Given the description of an element on the screen output the (x, y) to click on. 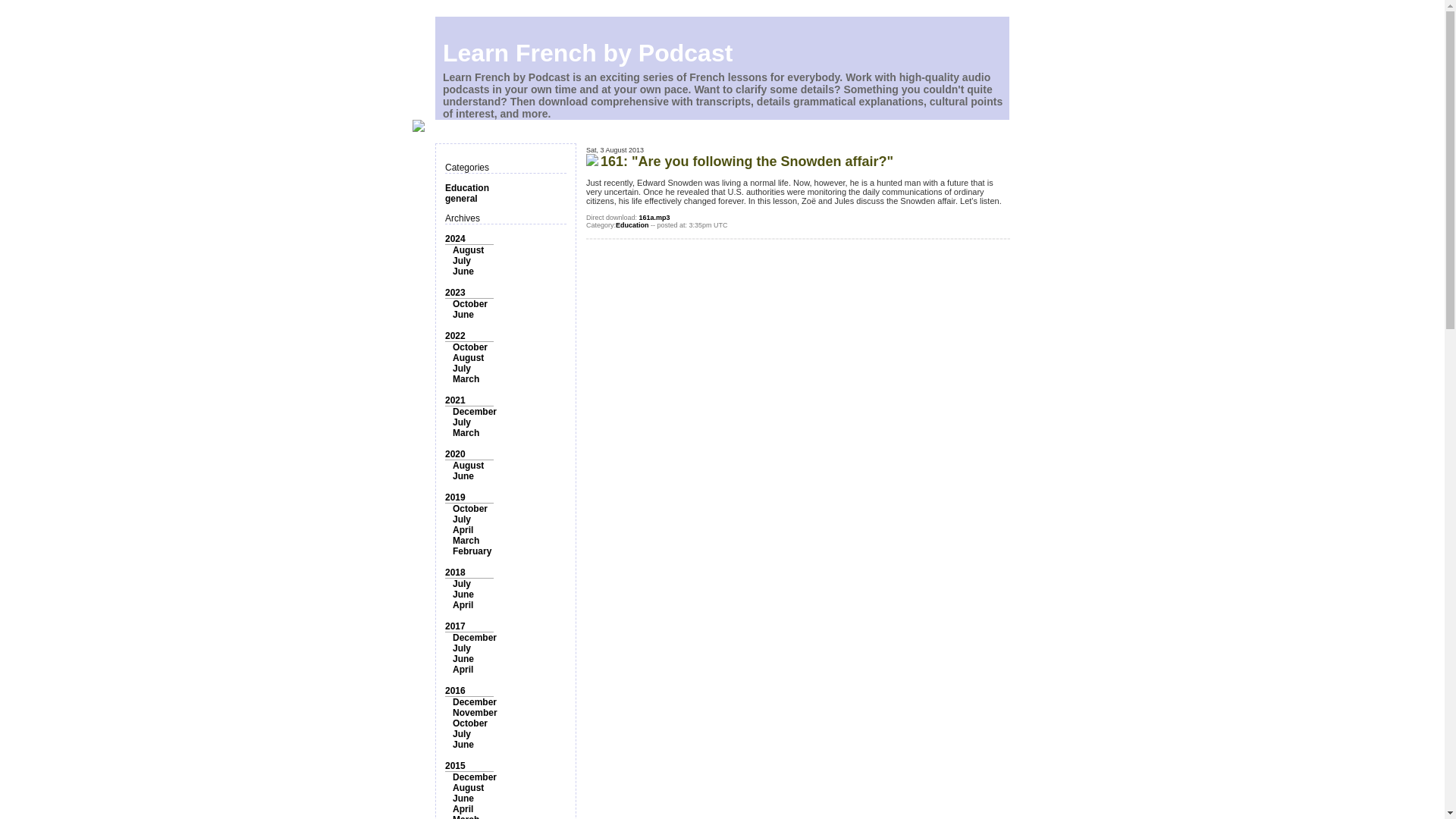
November (474, 712)
April (462, 529)
August (467, 249)
July (461, 583)
March (465, 540)
October (469, 347)
2021 (455, 399)
October (469, 508)
October (469, 723)
July (461, 260)
